Given the description of an element on the screen output the (x, y) to click on. 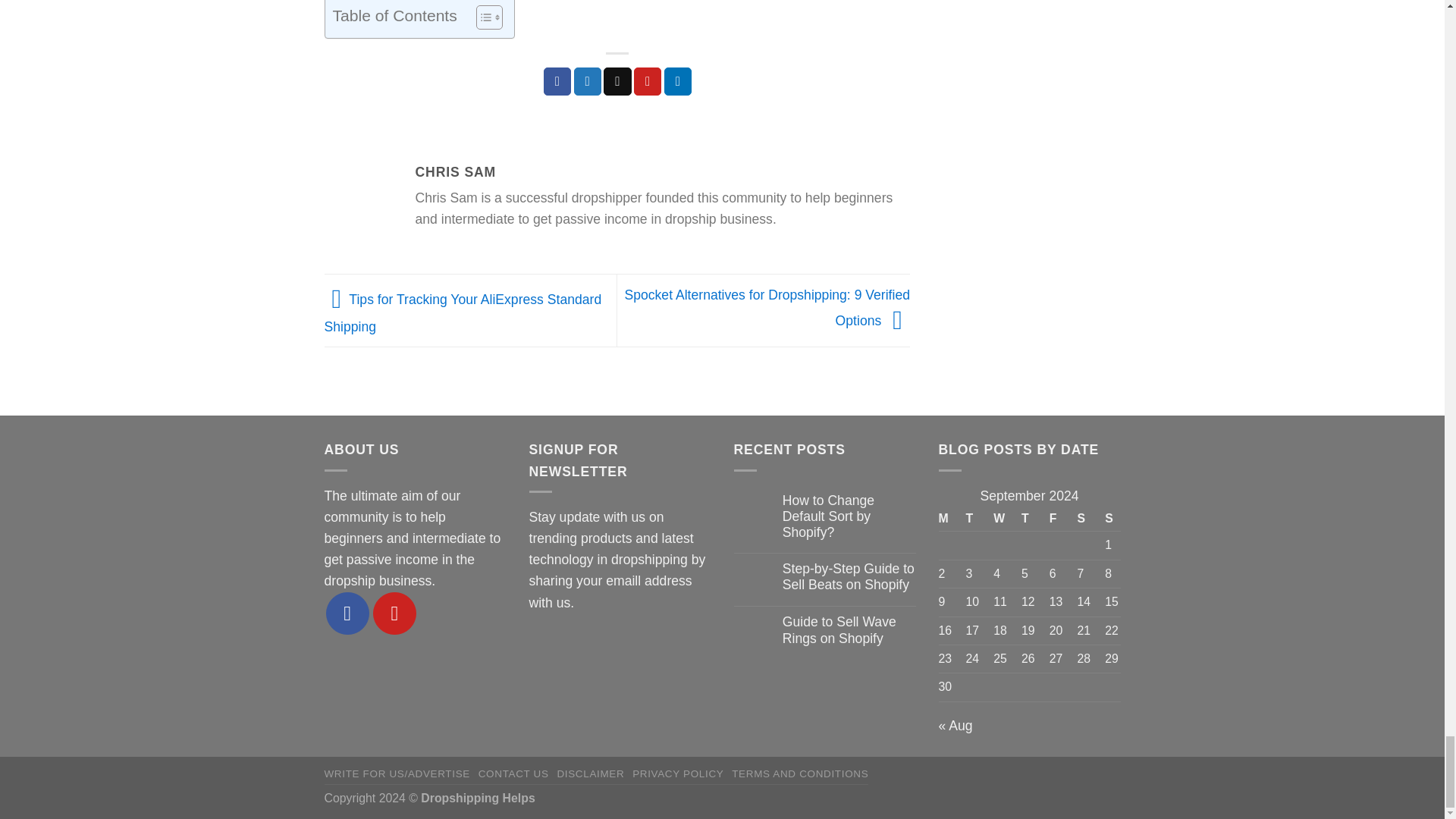
Share on Twitter (587, 81)
Tips for Tracking Your AliExpress Standard Shipping (463, 312)
Pin on Pinterest (647, 81)
Email to a Friend (617, 81)
Share on LinkedIn (677, 81)
Share on Facebook (556, 81)
